Given the description of an element on the screen output the (x, y) to click on. 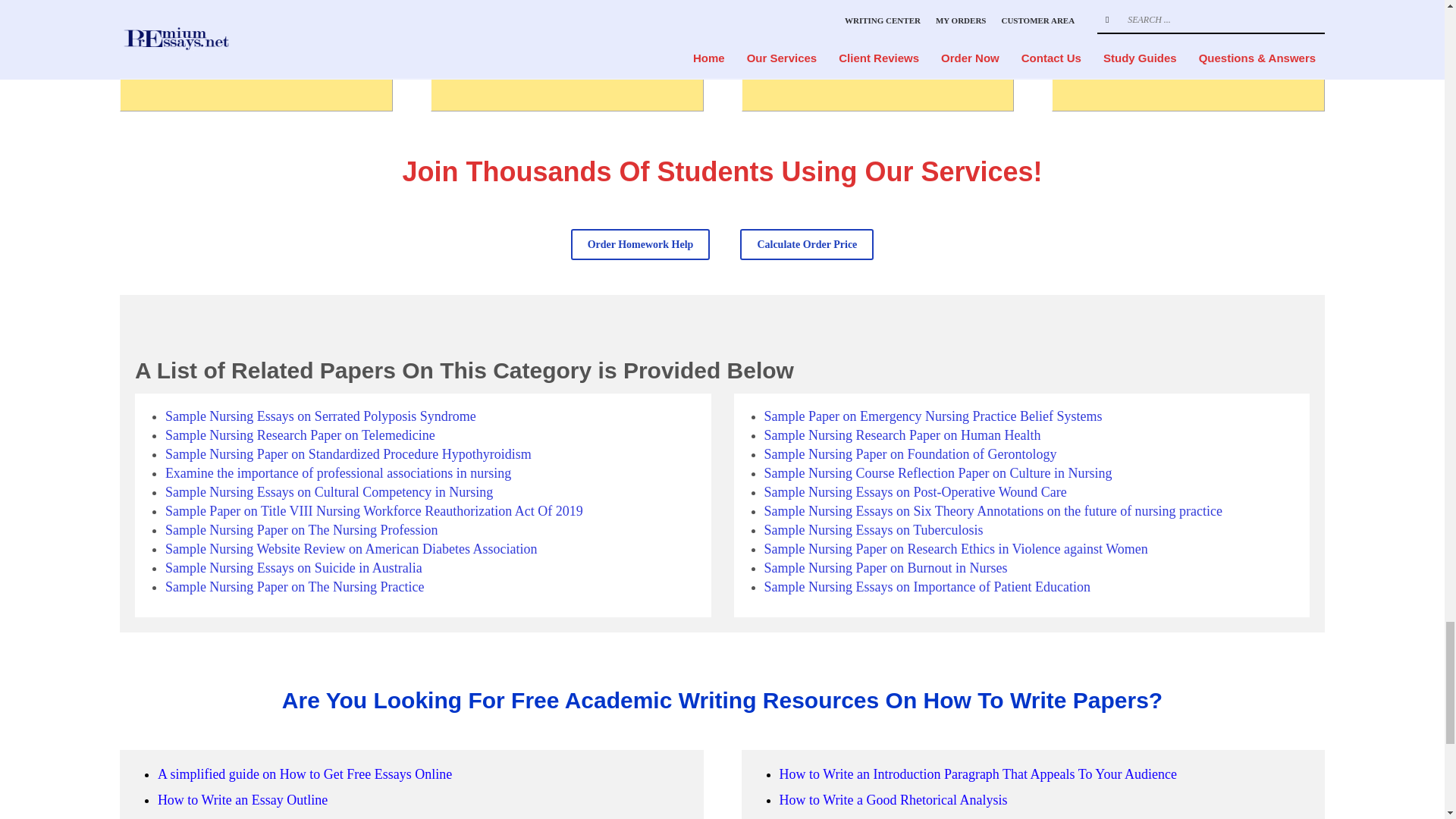
Sample Nursing Essays on Serrated Polyposis Syndrome (320, 416)
Sample Nursing Essays on Suicide in Australia (293, 567)
Order Homework Help (640, 244)
Sample Nursing Essays on Cultural Competency in Nursing (329, 491)
Calculate Order Price (806, 244)
Sample Nursing Research Paper on Telemedicine (300, 435)
Sample Nursing Paper on The Nursing Profession (301, 529)
